Given the description of an element on the screen output the (x, y) to click on. 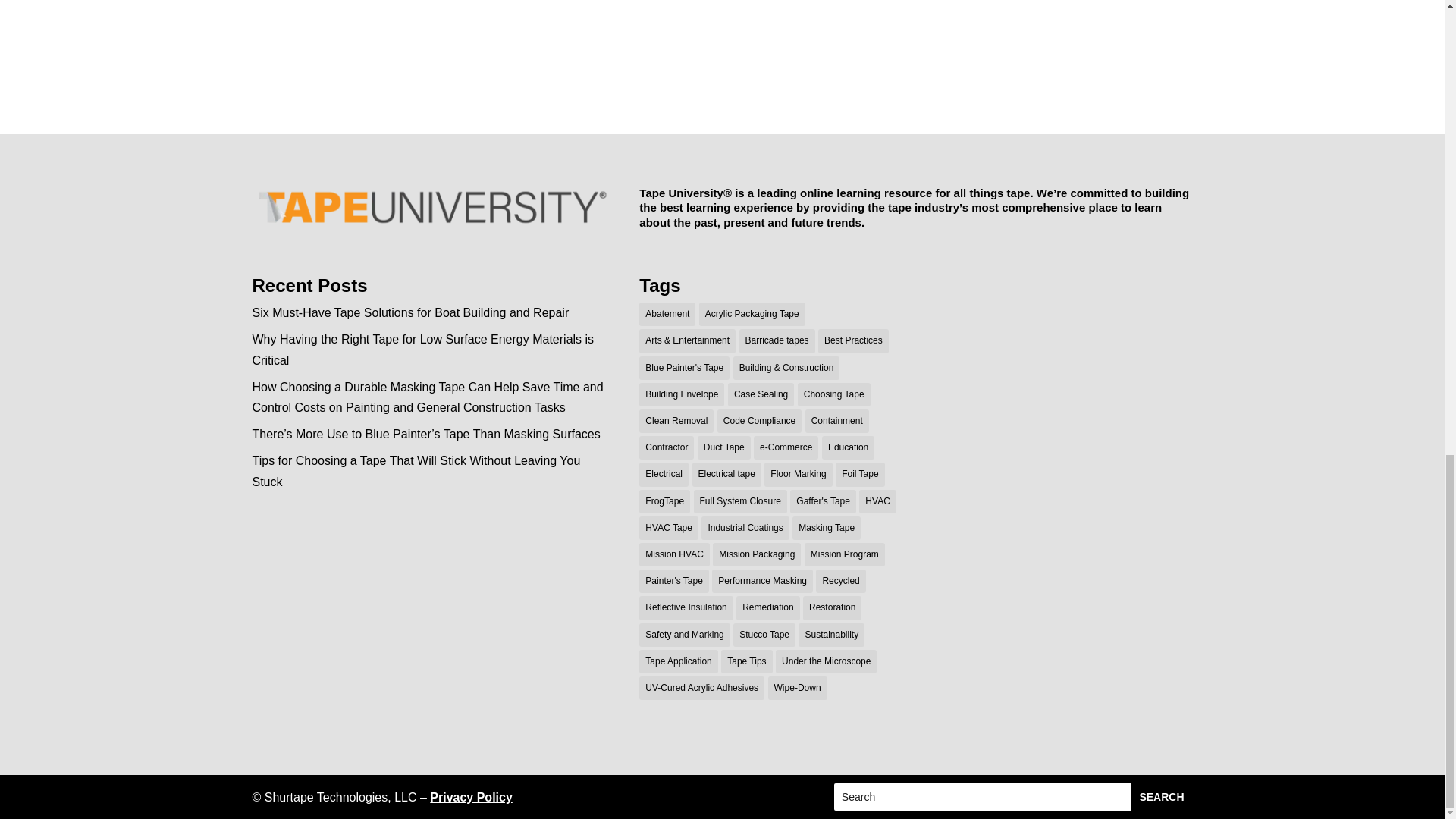
Search (1161, 796)
Search (1161, 796)
TapeULogo-500x60 (431, 207)
